Given the description of an element on the screen output the (x, y) to click on. 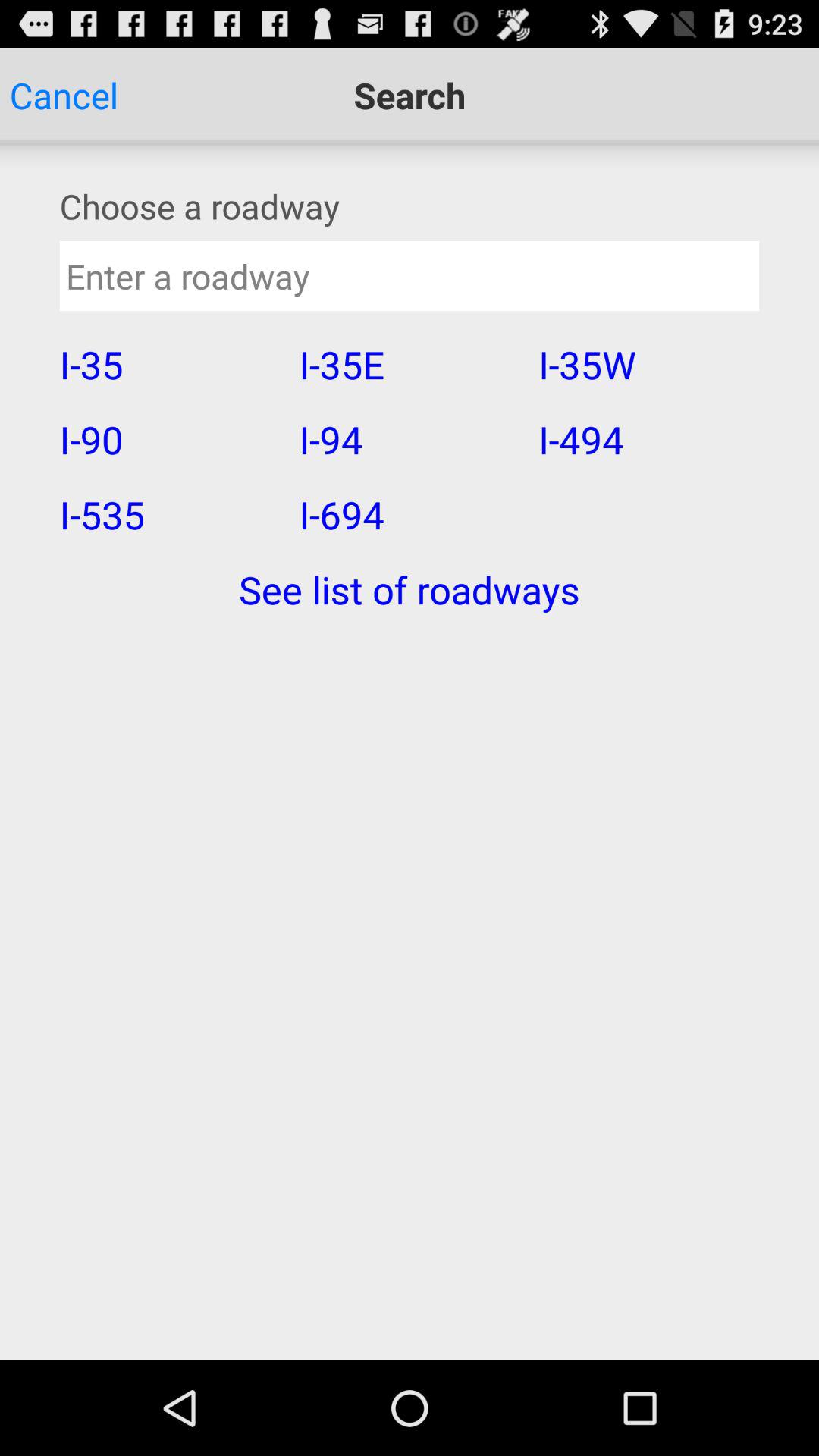
click icon above i-90 (169, 364)
